Given the description of an element on the screen output the (x, y) to click on. 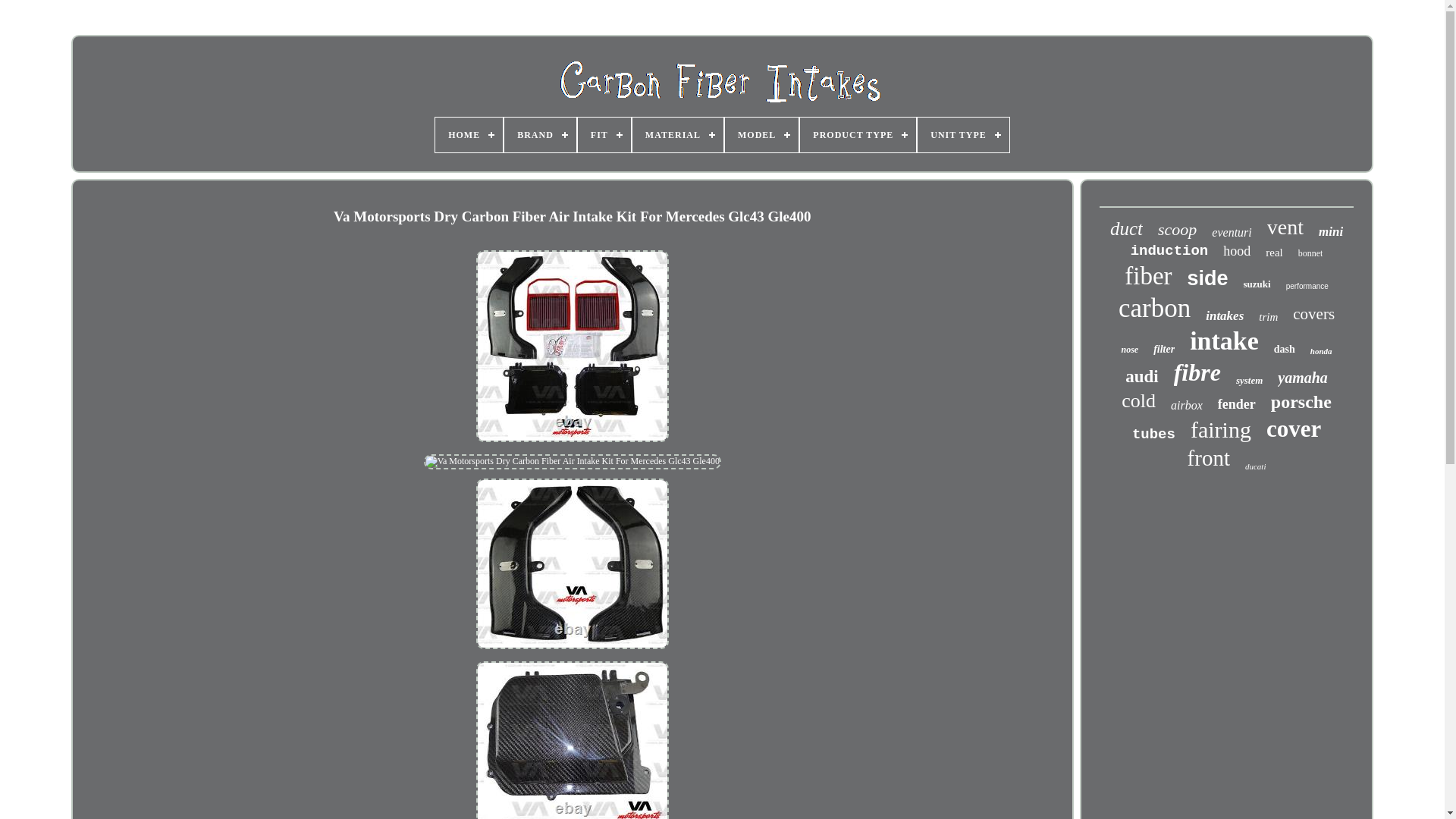
FIT (604, 134)
BRAND (539, 134)
MATERIAL (677, 134)
HOME (468, 134)
